Given the description of an element on the screen output the (x, y) to click on. 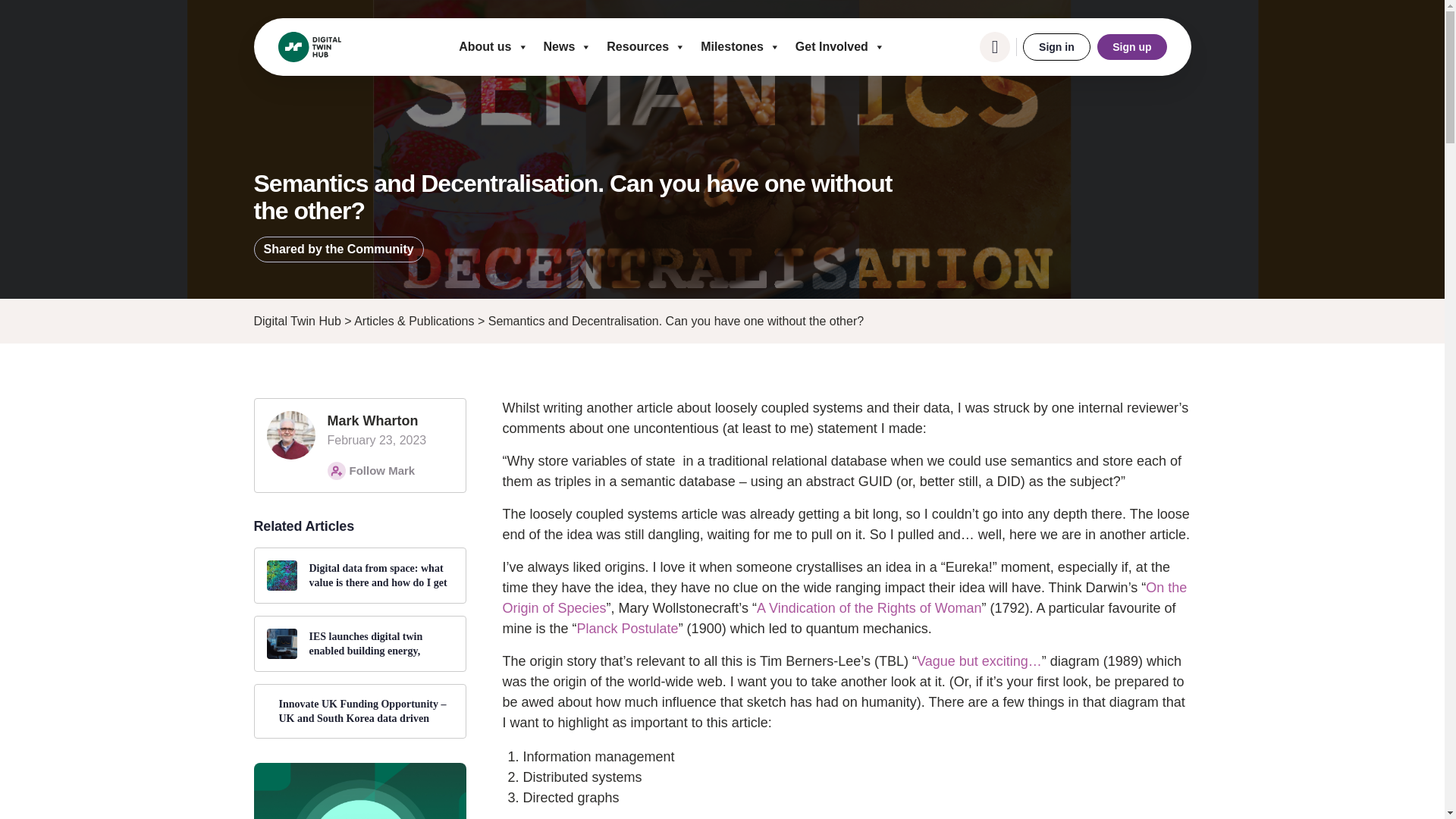
Go to Digital Twin Hub. (296, 320)
Resources (645, 47)
News (567, 47)
Milestones (740, 47)
About us (493, 47)
